Given the description of an element on the screen output the (x, y) to click on. 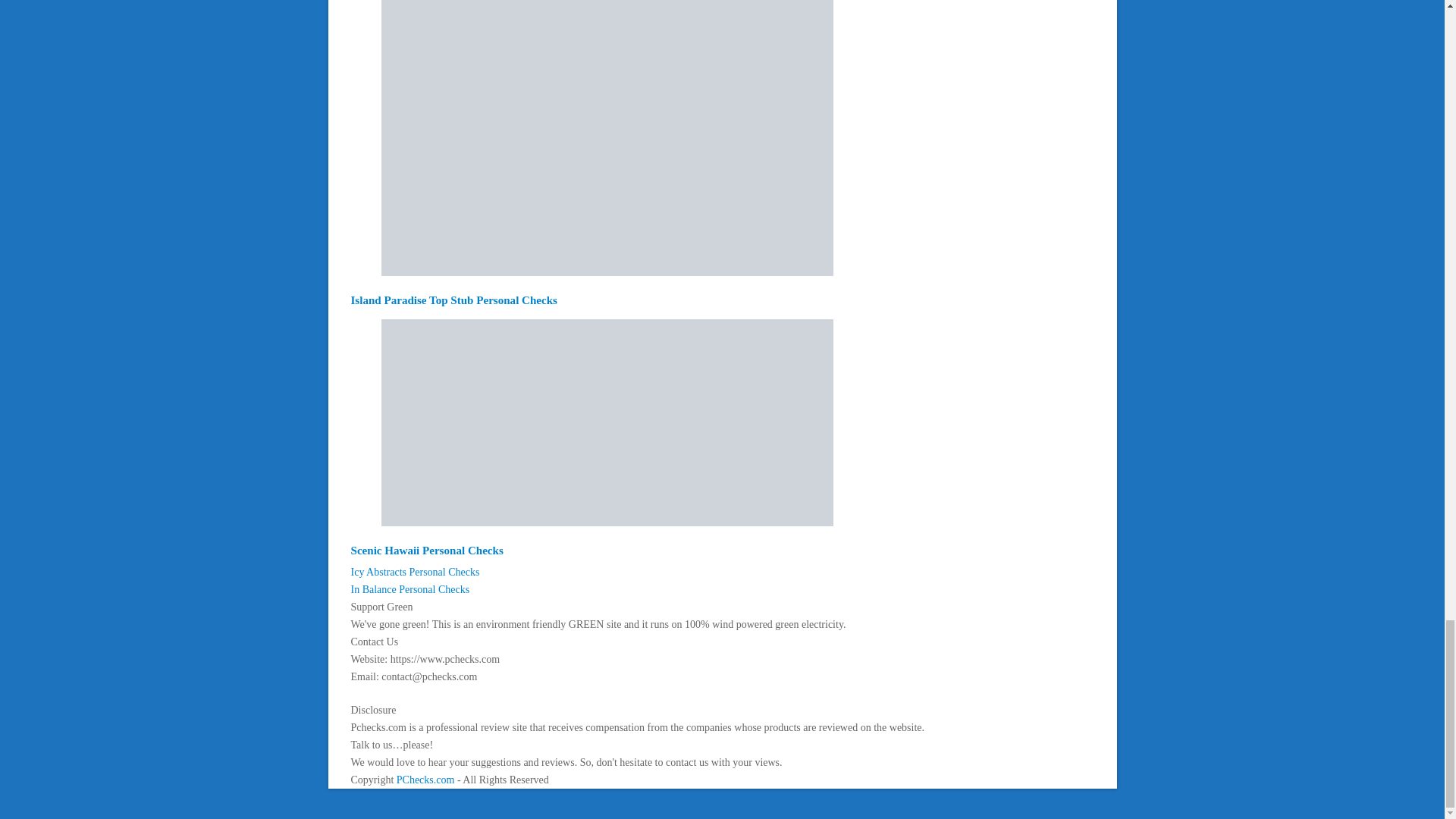
Scenic Hawaii Personal Checks (426, 550)
Island Paradise Top Stub Personal Checks (453, 300)
